Given the description of an element on the screen output the (x, y) to click on. 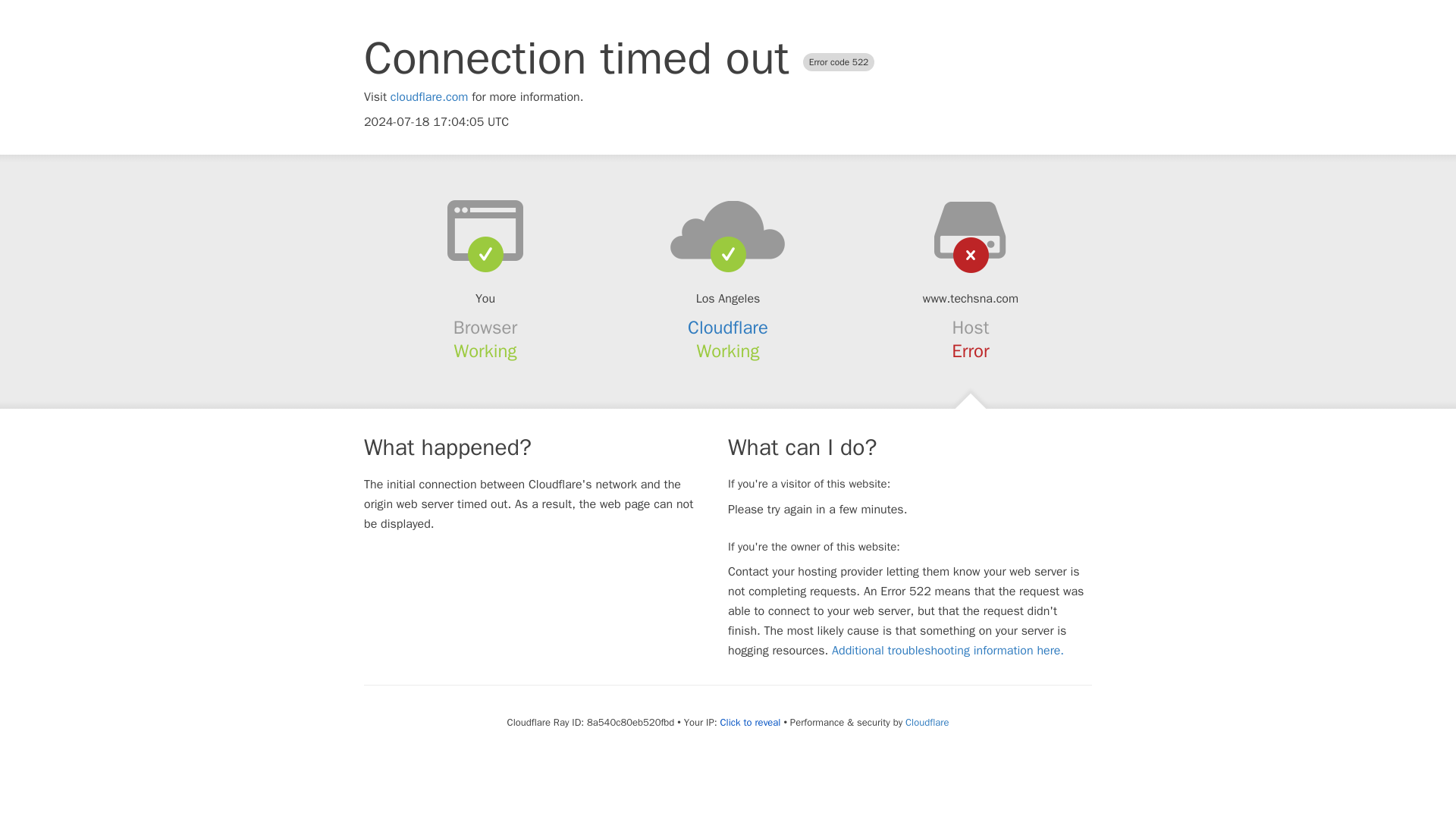
Cloudflare (927, 721)
Cloudflare (727, 327)
Additional troubleshooting information here. (947, 650)
cloudflare.com (429, 96)
Click to reveal (750, 722)
